Given the description of an element on the screen output the (x, y) to click on. 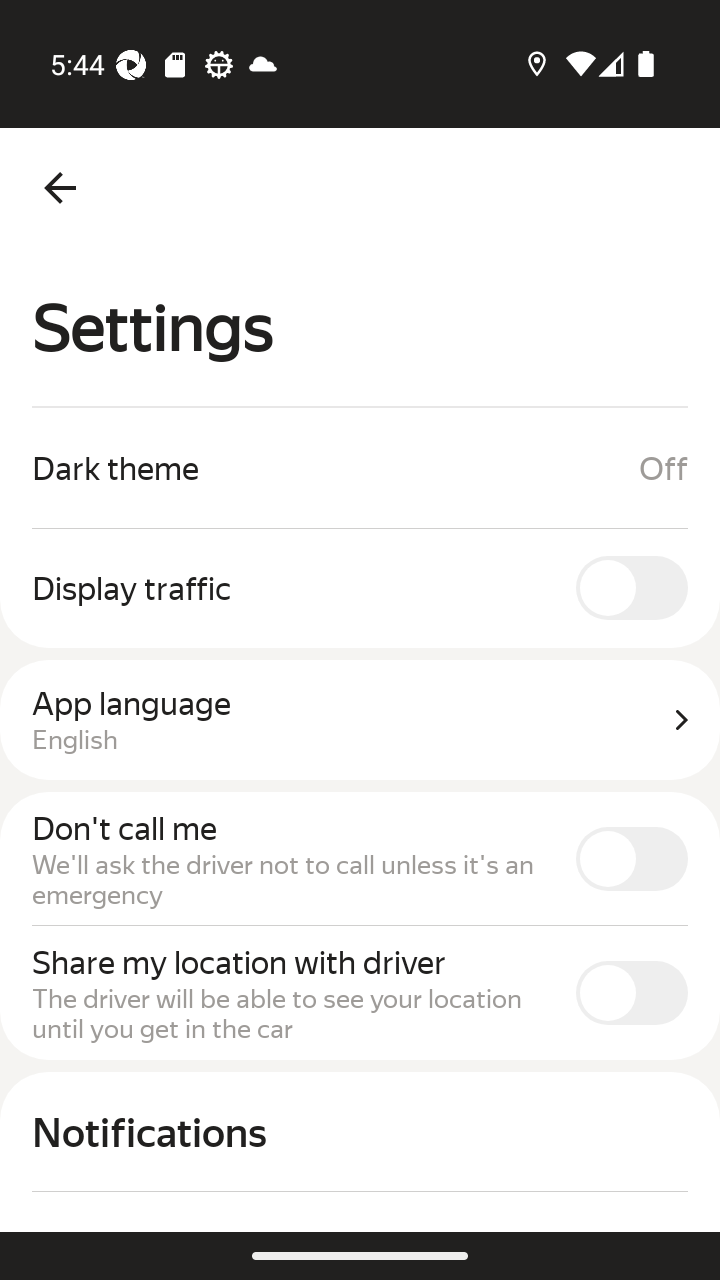
Back (60, 188)
Dark theme Dark theme Off Off (360, 467)
Display traffic (360, 587)
App language, English App language English (360, 719)
